Given the description of an element on the screen output the (x, y) to click on. 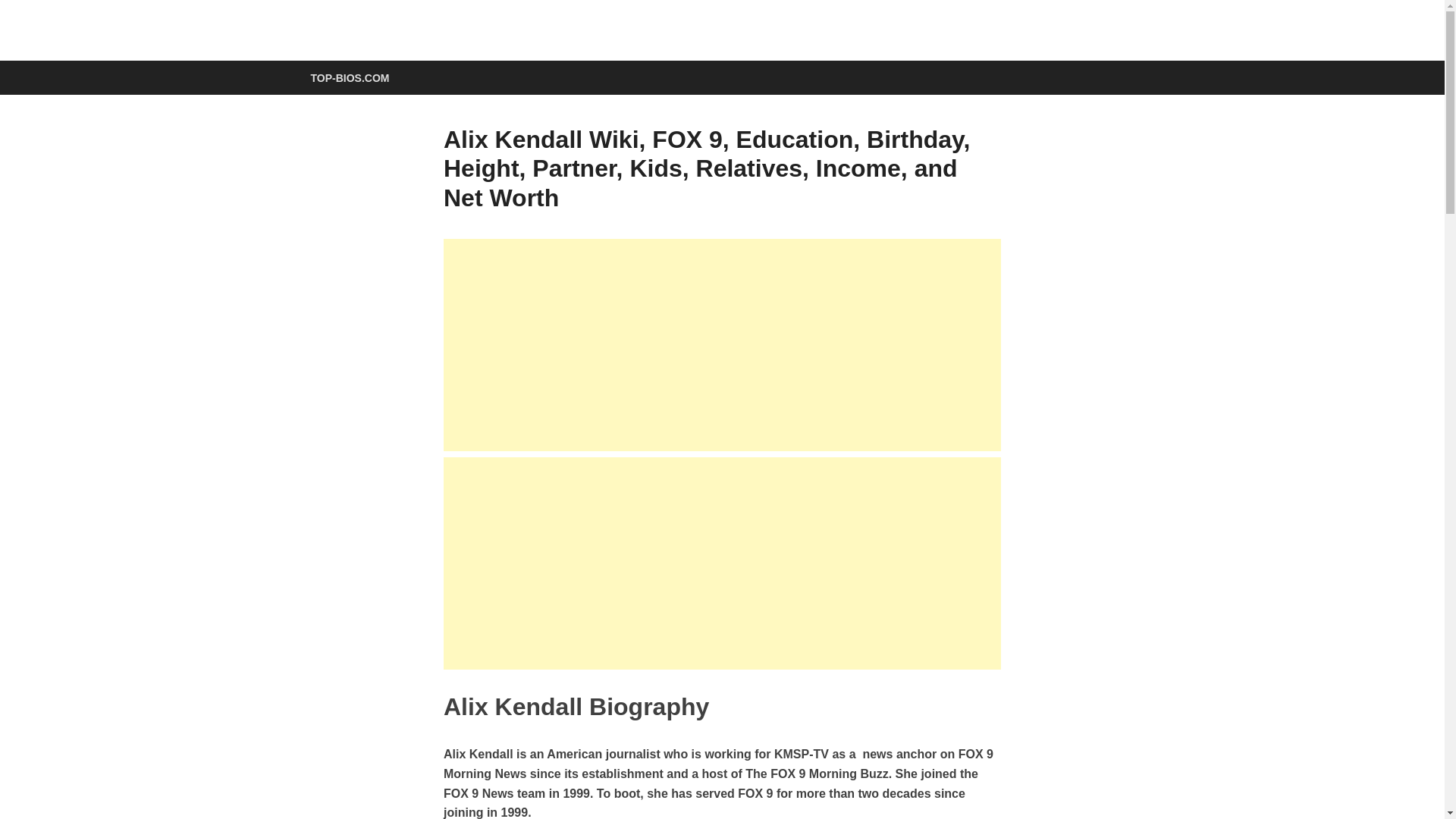
TOP-BIOS.COM (349, 77)
top-bios.com (394, 51)
Advertisement (722, 345)
Advertisement (722, 563)
